Given the description of an element on the screen output the (x, y) to click on. 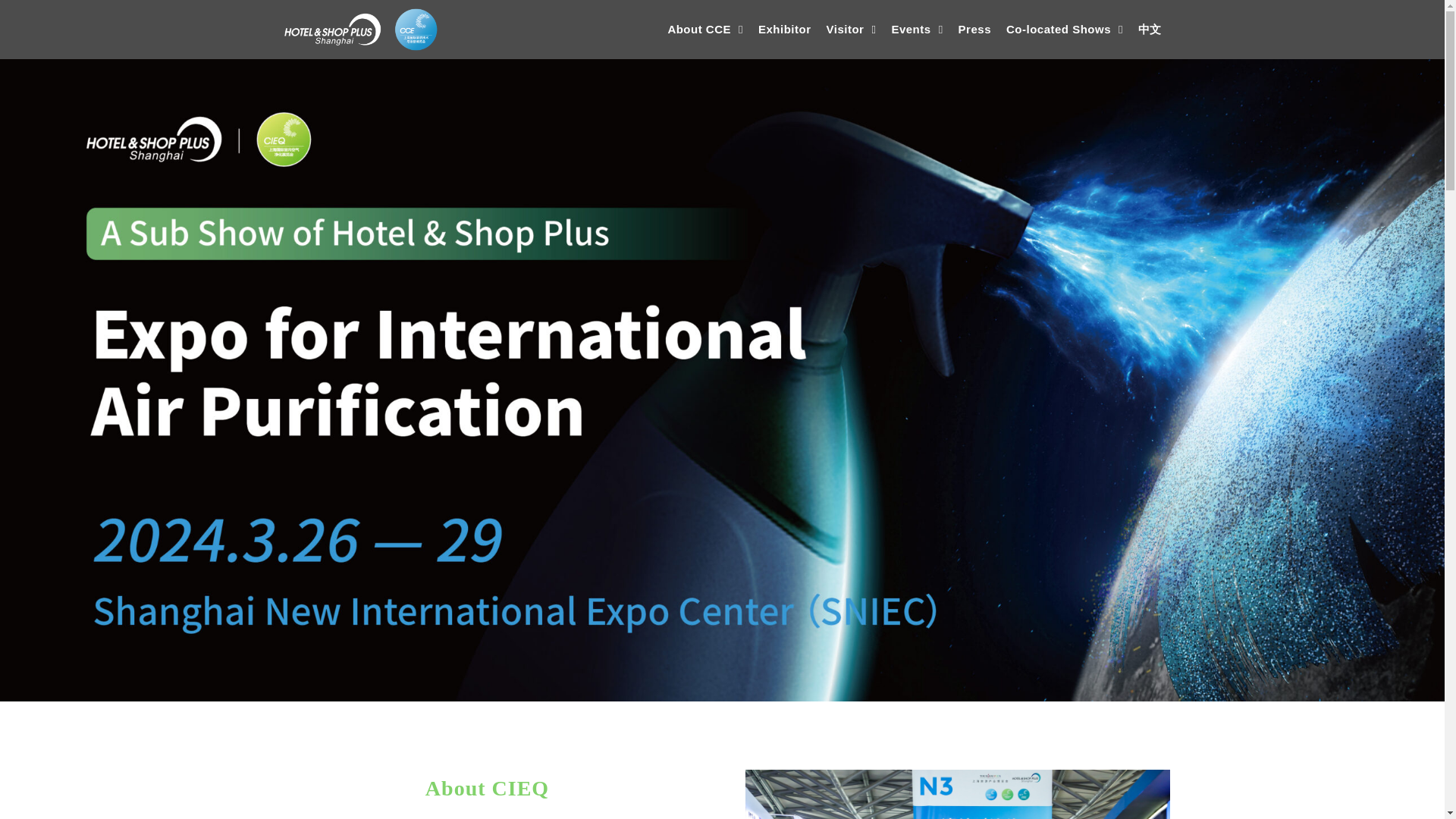
Visitor (850, 29)
About CCE (705, 29)
Co-located Shows (1064, 29)
Press (974, 29)
Exhibitor (784, 29)
Events (916, 29)
